Given the description of an element on the screen output the (x, y) to click on. 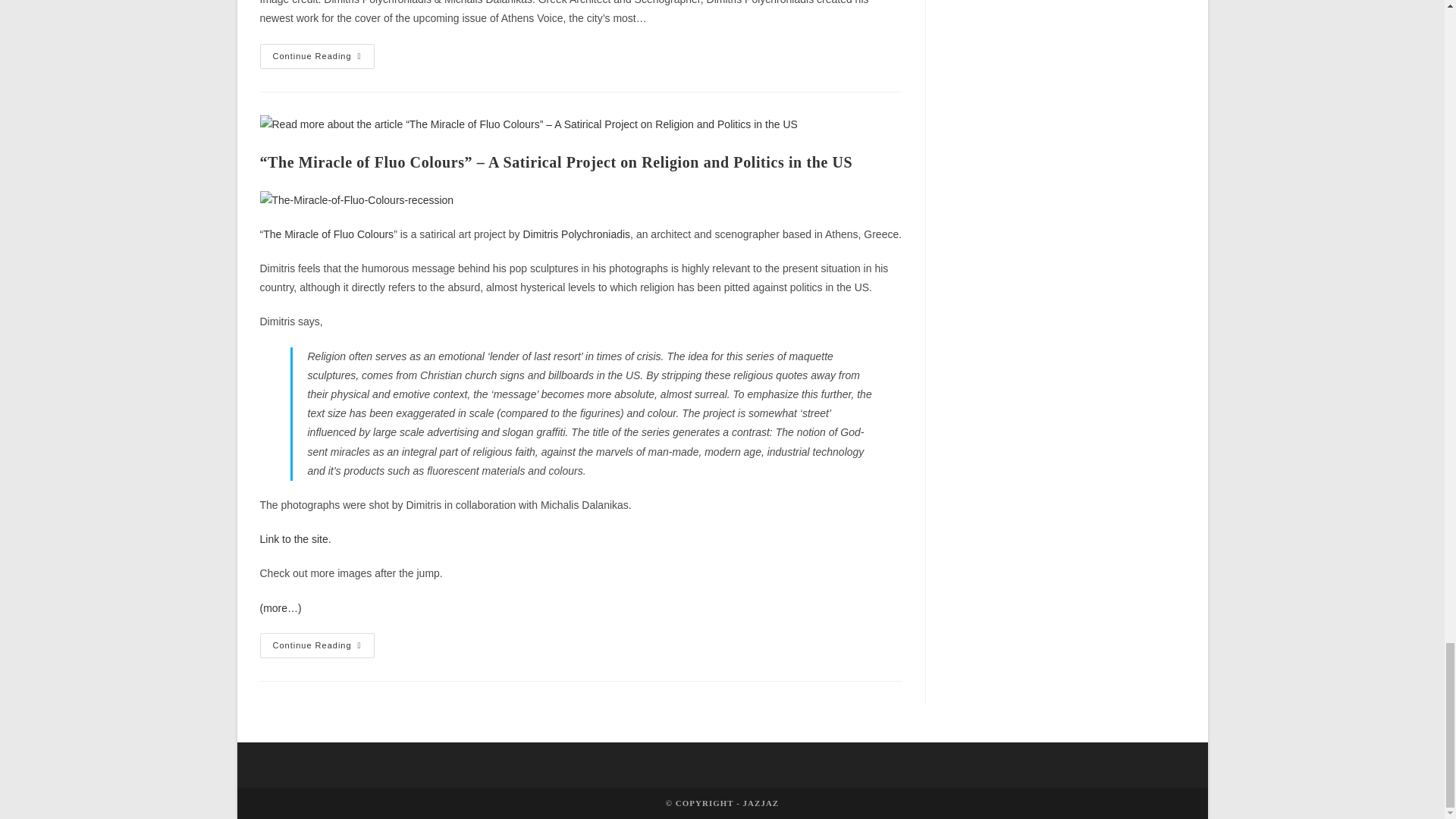
The Miracle of Fluo Colours (328, 234)
The-Miracle-of-Fluo-Colours-recession (355, 199)
The Miracle of Fluo Colours (293, 539)
Dimitris Polychroniadis (576, 234)
